Given the description of an element on the screen output the (x, y) to click on. 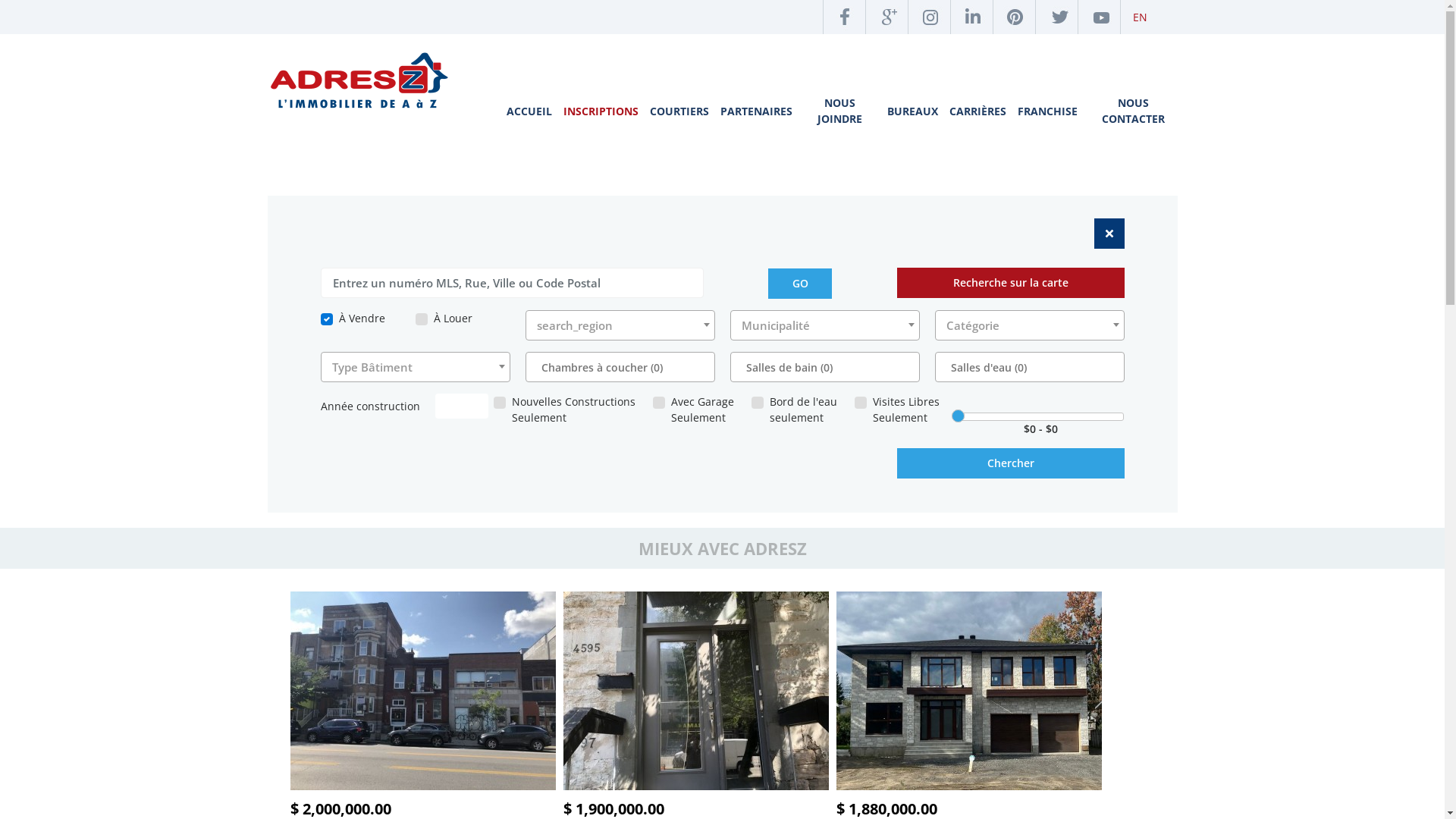
INSCRIPTIONS Element type: text (599, 110)
Chercher Element type: text (1009, 463)
COURTIERS Element type: text (678, 110)
ACCUEIL Element type: text (529, 110)
NOUS CONTACTER Element type: text (1132, 110)
EN Element type: text (1133, 17)
NOUS JOINDRE Element type: text (839, 110)
Recherche sur la carte Element type: text (1009, 281)
BUREAUX Element type: text (912, 110)
GO Element type: text (799, 283)
FRANCHISE Element type: text (1047, 110)
PARTENAIRES Element type: text (756, 110)
